Given the description of an element on the screen output the (x, y) to click on. 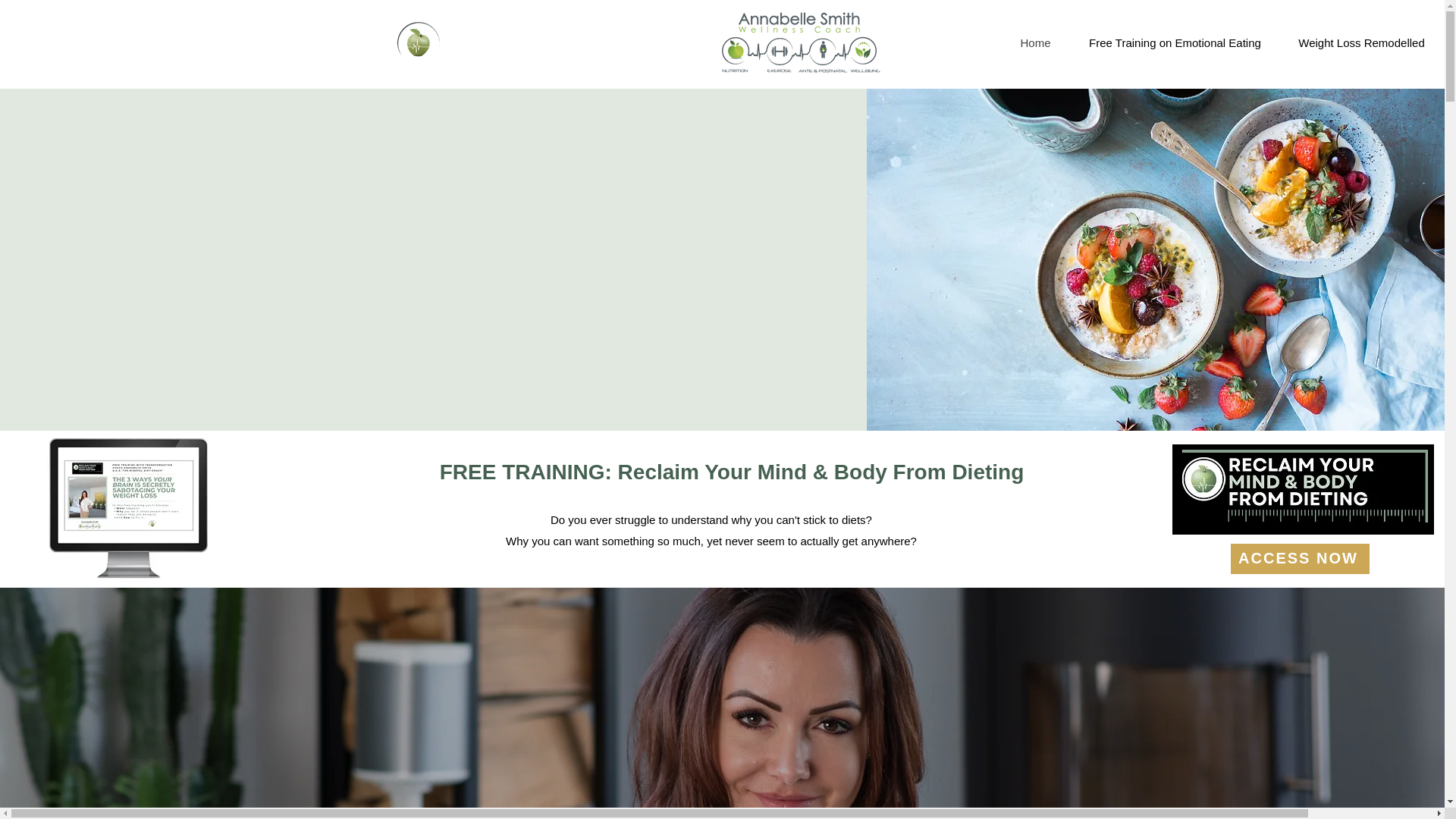
Free Training on Emotional Eating (1174, 43)
ACCESS NOW (1299, 558)
Home (1035, 43)
Weight Loss Remodelled (1360, 43)
